Given the description of an element on the screen output the (x, y) to click on. 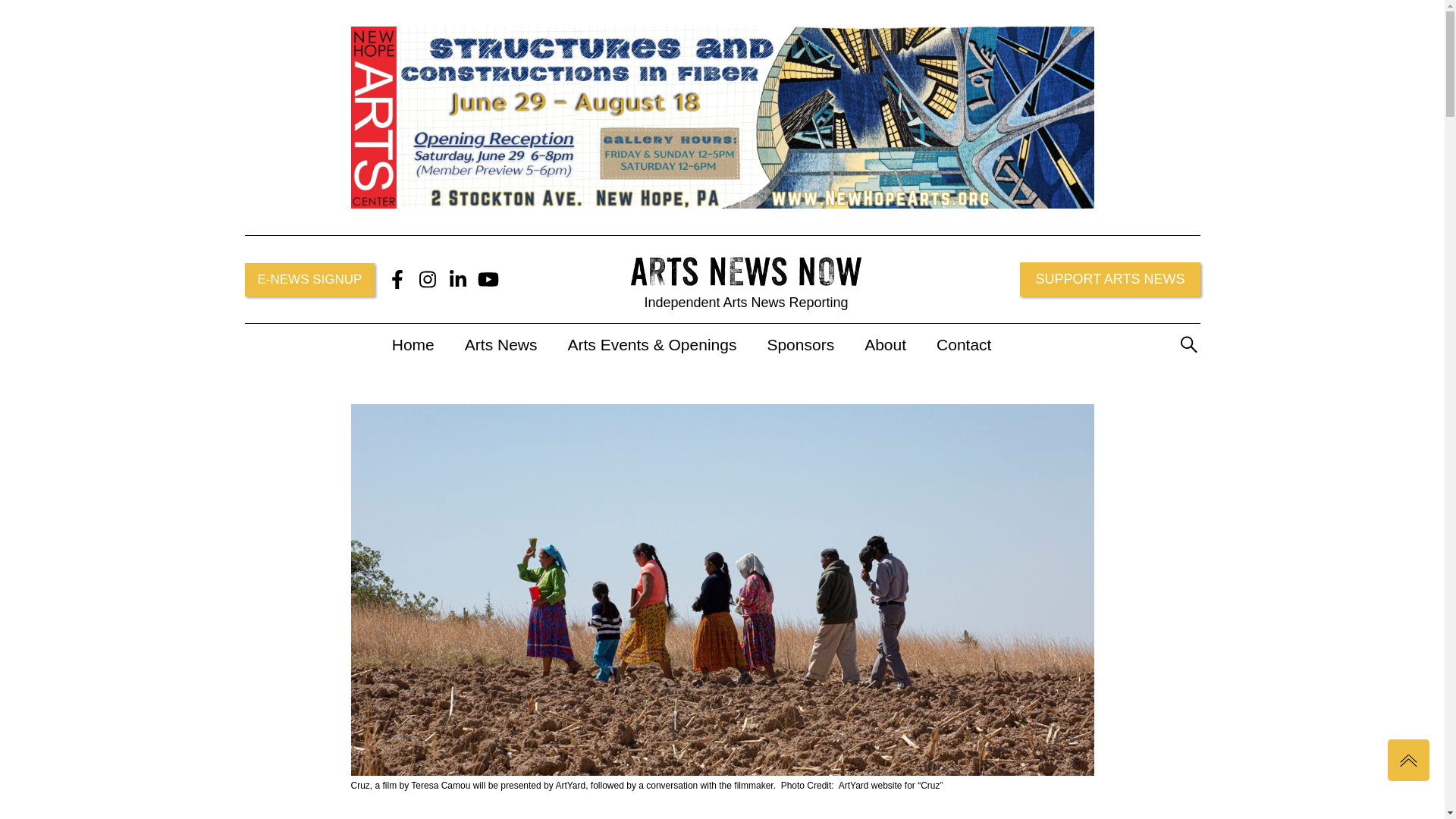
E-NEWS SIGNUP (309, 279)
Home (413, 344)
Independent Arts News Reporting (746, 278)
Sponsors (799, 344)
SUPPORT ARTS NEWS (1109, 279)
Arts News (500, 344)
Contact (959, 344)
About (885, 344)
